Given the description of an element on the screen output the (x, y) to click on. 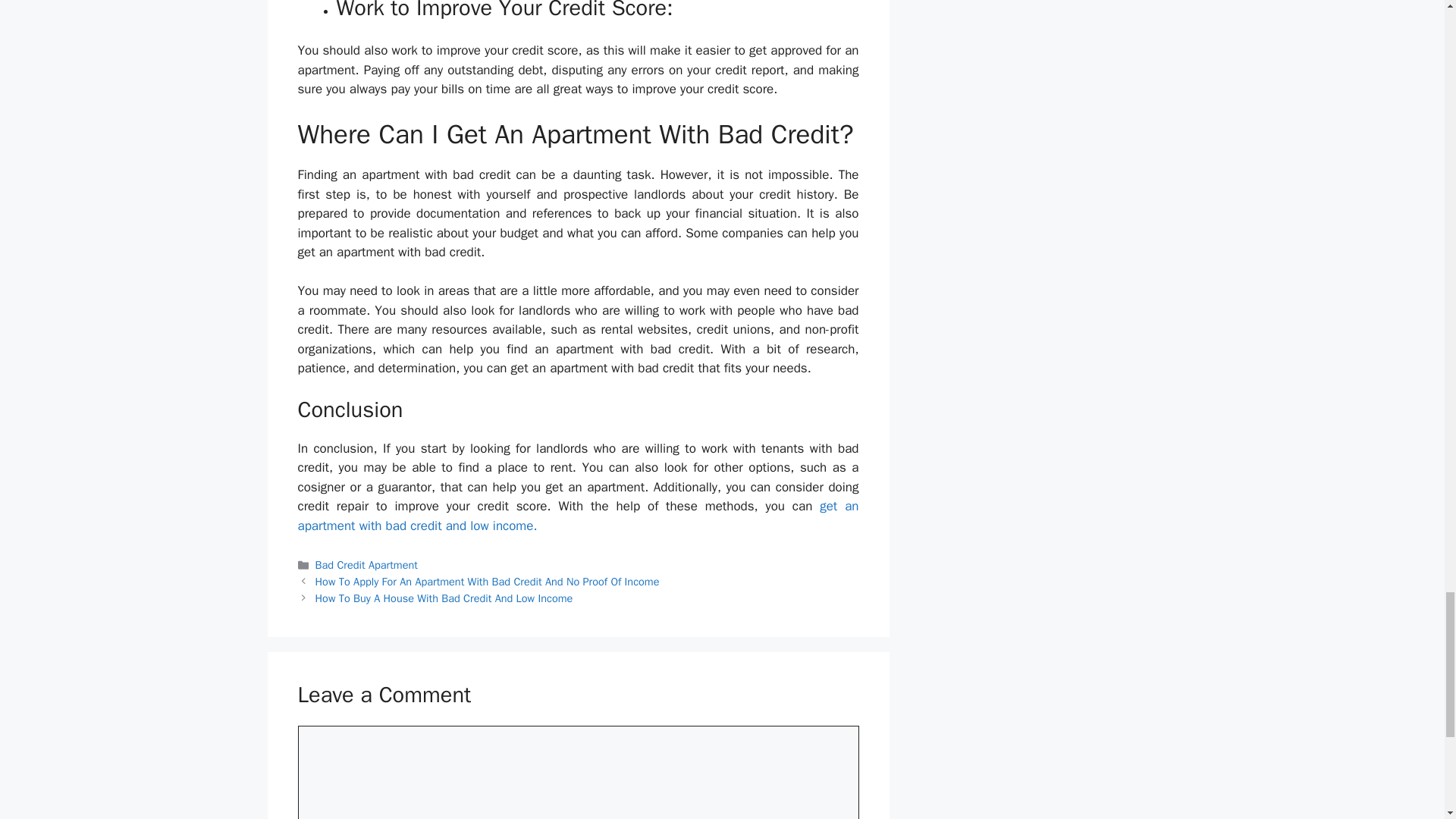
get an apartment with bad credit and low income. (578, 515)
Bad Credit Apartment (366, 564)
How To Buy A House With Bad Credit And Low Income (444, 598)
